Given the description of an element on the screen output the (x, y) to click on. 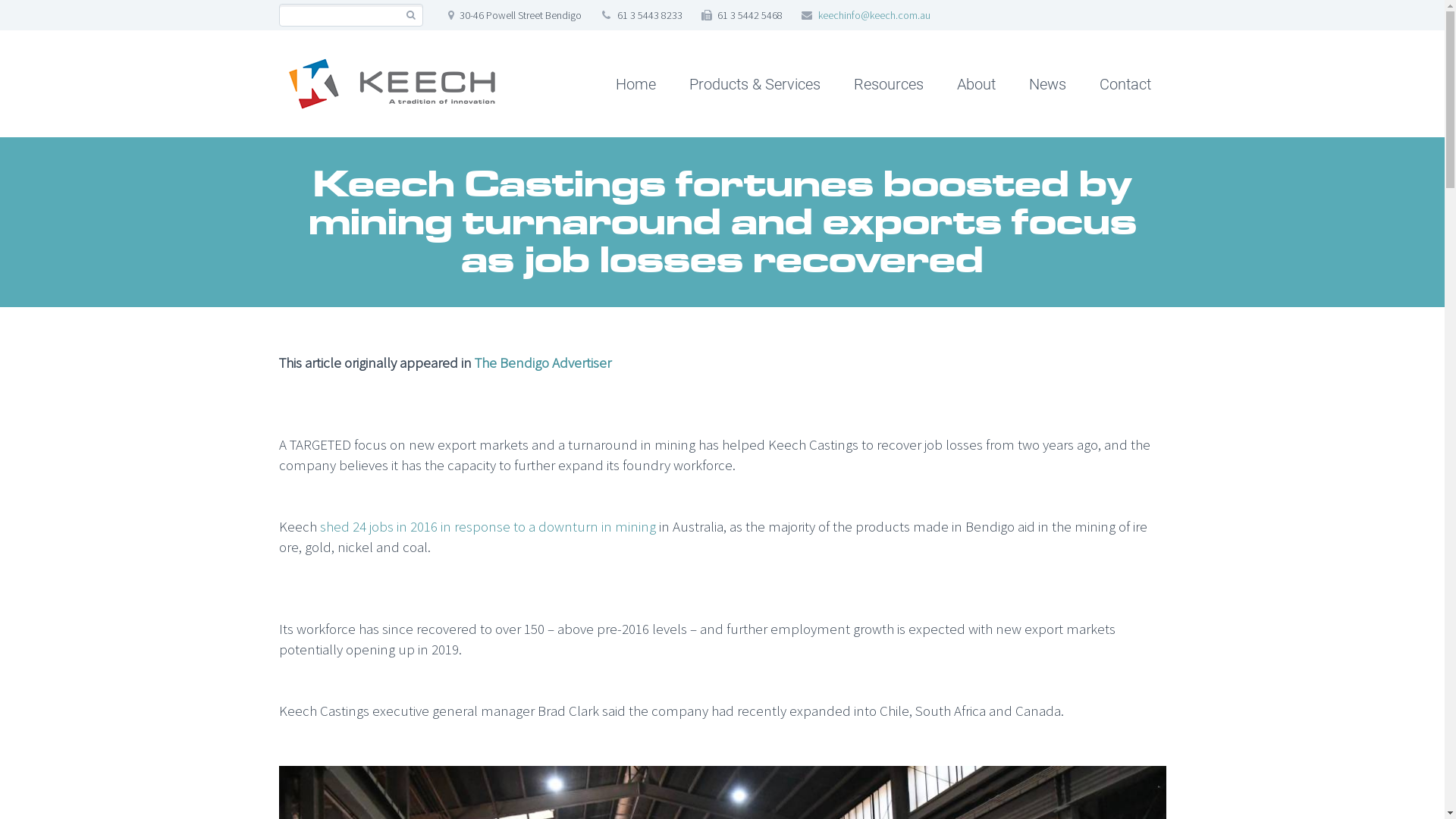
Home Element type: text (635, 83)
News Element type: text (1046, 83)
Contact Element type: text (1125, 83)
Search Element type: text (411, 15)
About Element type: text (975, 83)
Products & Services Element type: text (753, 83)
Resources Element type: text (888, 83)
keechinfo@keech.com.au Element type: text (874, 14)
shed 24 jobs in 2016 in response to a downturn in mining Element type: text (487, 526)
The Bendigo Advertiser Element type: text (542, 362)
